Given the description of an element on the screen output the (x, y) to click on. 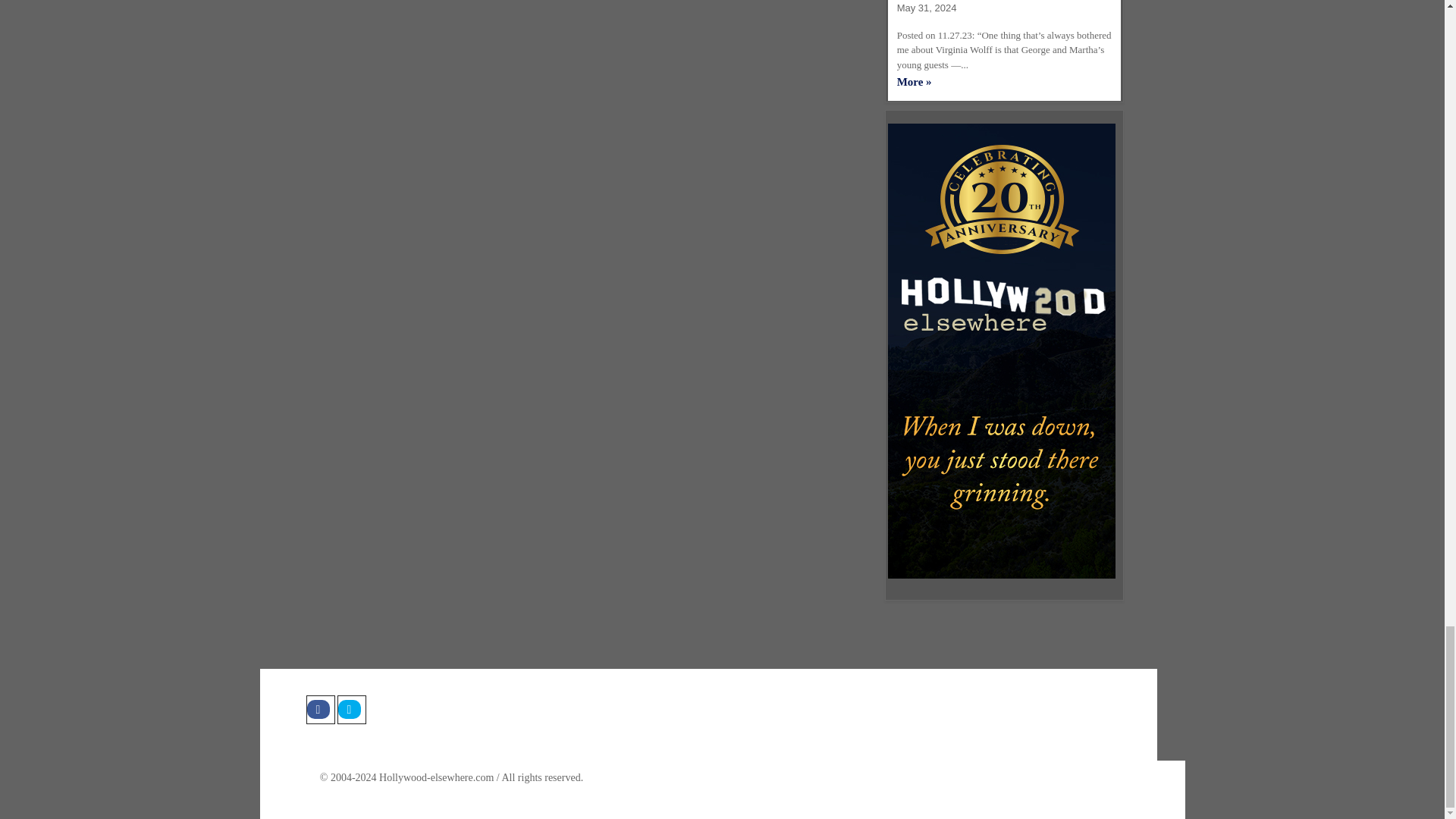
Twitter (350, 709)
Facebook (319, 709)
